Given the description of an element on the screen output the (x, y) to click on. 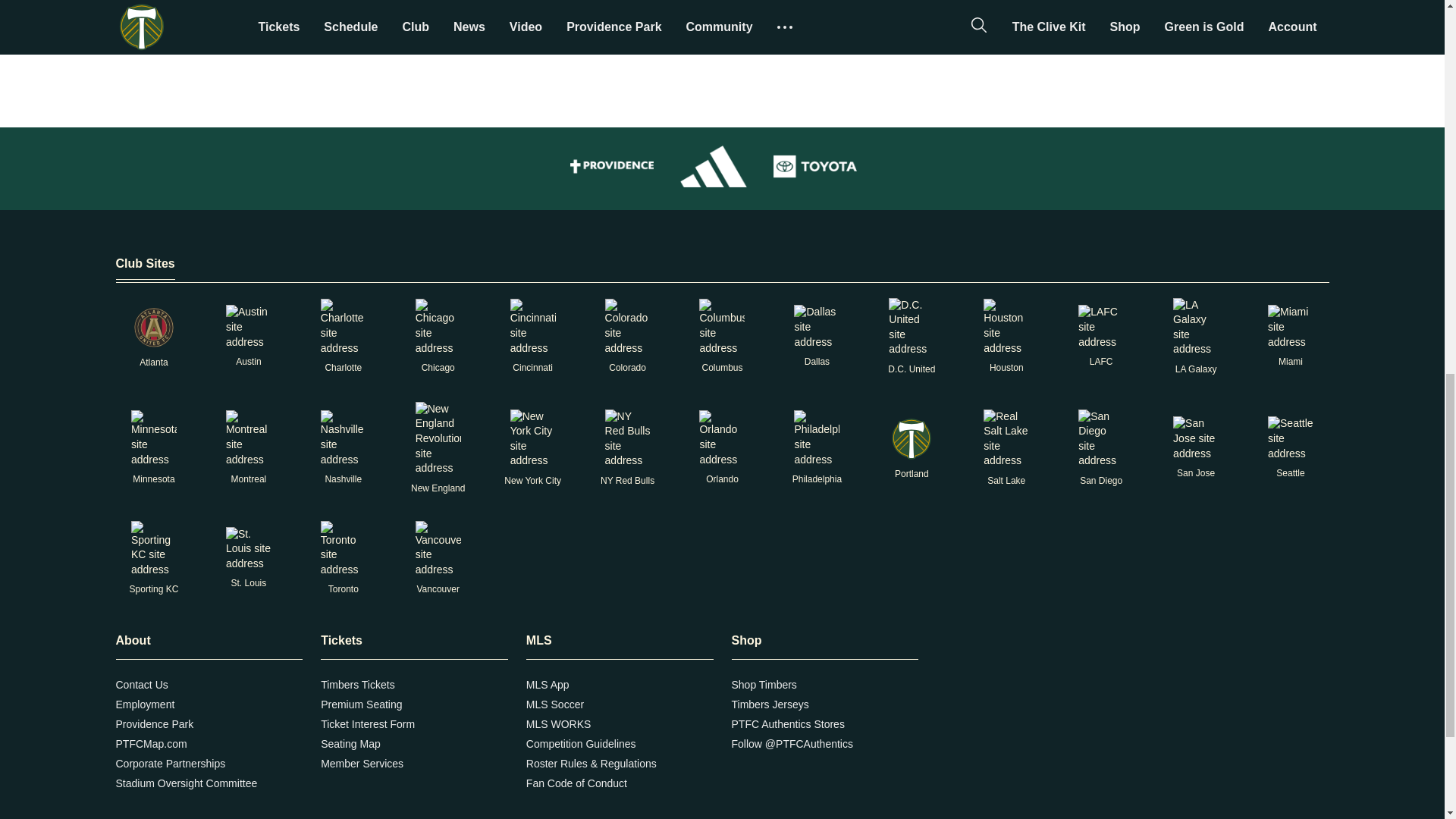
Link to Miami (1290, 326)
Link to LAFC (1101, 326)
Link to Dallas (816, 326)
Link to Atlanta (153, 327)
Link to Austin (247, 326)
